Given the description of an element on the screen output the (x, y) to click on. 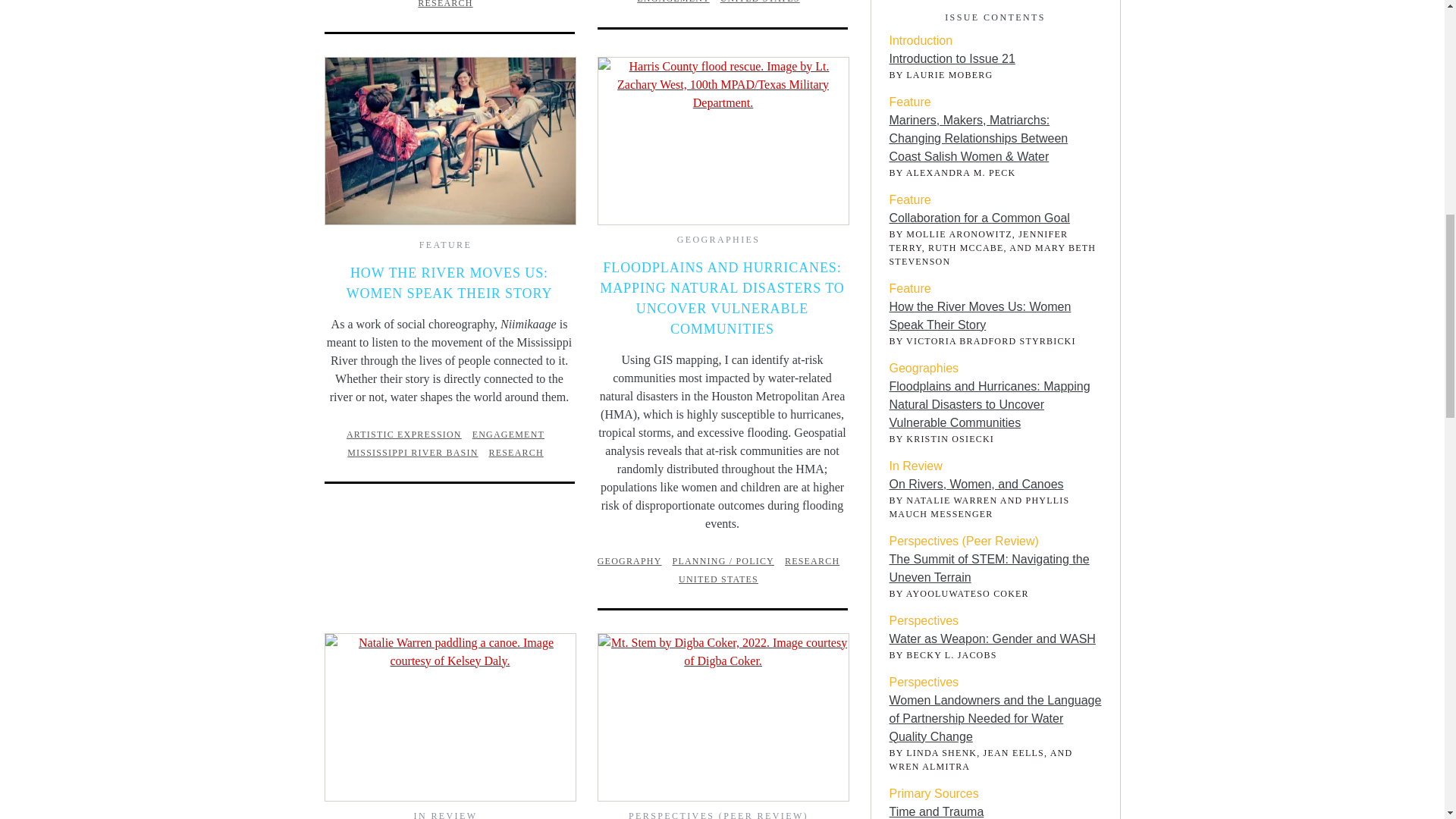
UNITED STATES (764, 2)
RESEARCH (520, 452)
GEOGRAPHY (632, 561)
MISSISSIPPI RIVER BASIN (415, 452)
RESEARCH (448, 4)
ARTISTIC EXPRESSION (407, 434)
FEATURE (445, 244)
ENGAGEMENT (676, 2)
ENGAGEMENT (511, 434)
HOW THE RIVER MOVES US: WOMEN SPEAK THEIR STORY (449, 283)
RESEARCH (815, 561)
GEOGRAPHIES (718, 239)
UNITED STATES (721, 579)
